Given the description of an element on the screen output the (x, y) to click on. 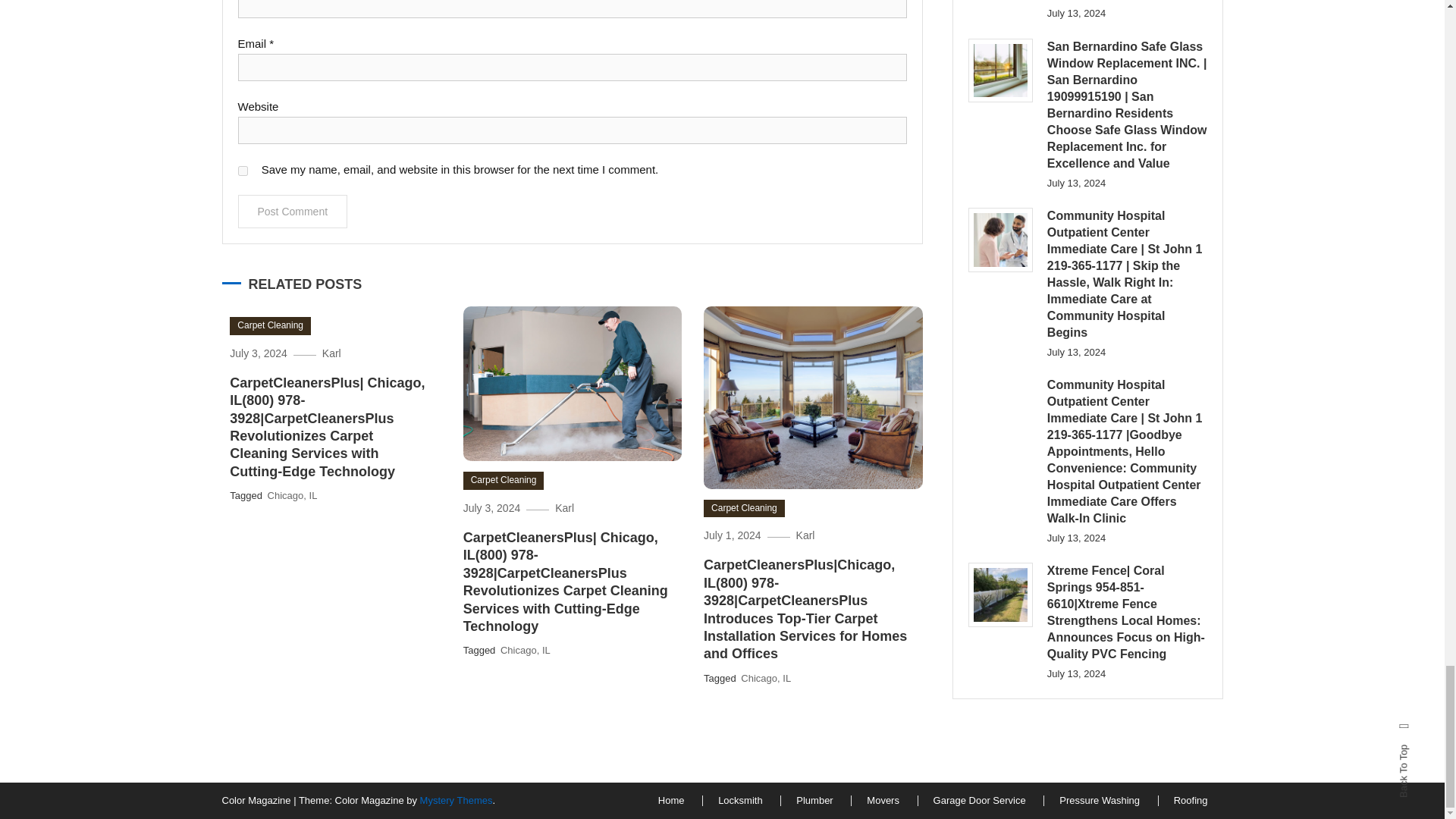
yes (242, 171)
Post Comment (292, 211)
